Given the description of an element on the screen output the (x, y) to click on. 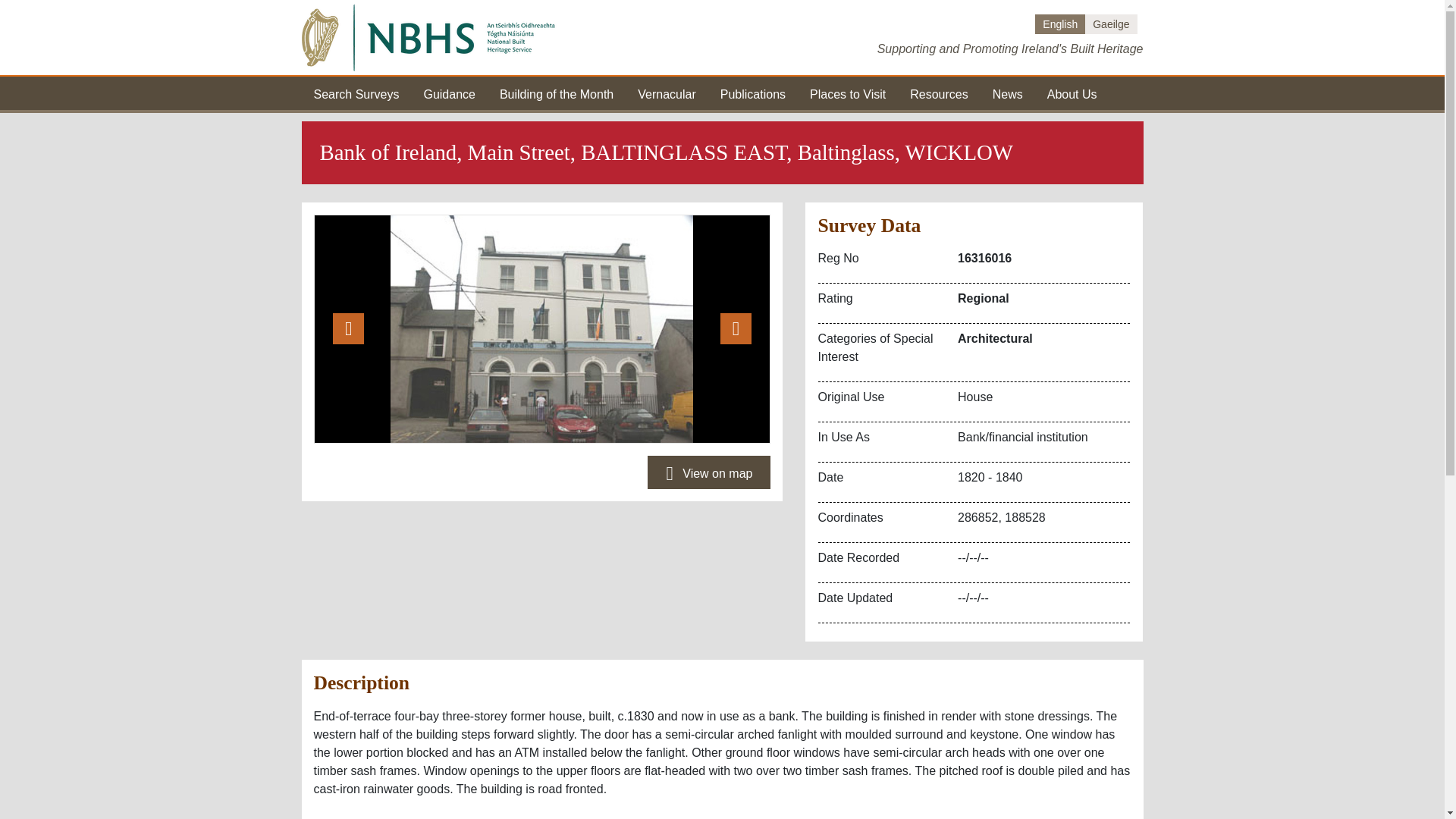
Gaeilge (1110, 24)
Resources (939, 92)
Guidance (449, 92)
News (1007, 92)
Building of the Month (555, 92)
About Us (1071, 92)
Publications (753, 92)
Vernacular (666, 92)
Places to Visit (847, 92)
View on map (708, 471)
